Given the description of an element on the screen output the (x, y) to click on. 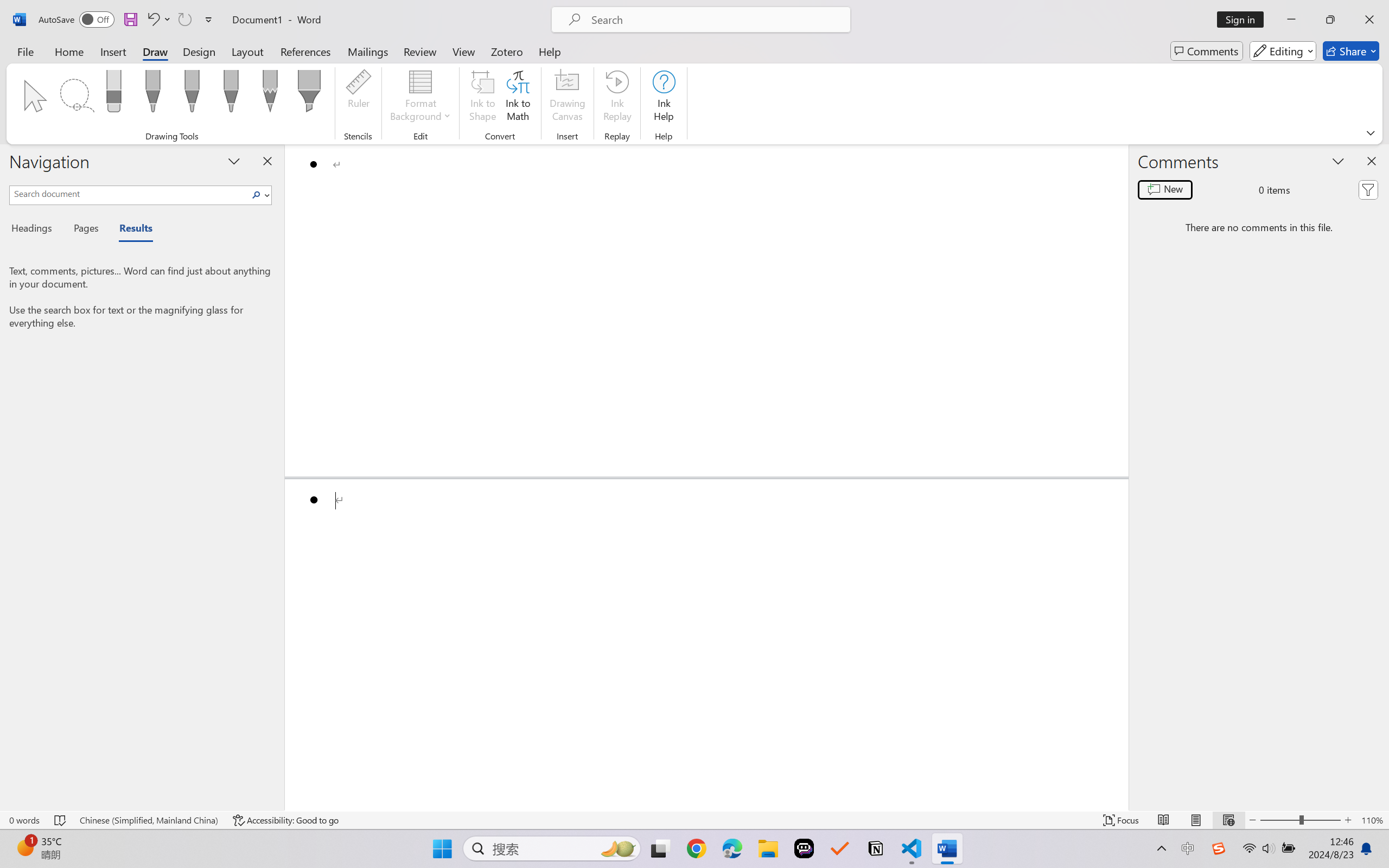
Pencil: Gray, 1 mm (270, 94)
Undo Bullet Default (152, 19)
Pages (85, 229)
